Given the description of an element on the screen output the (x, y) to click on. 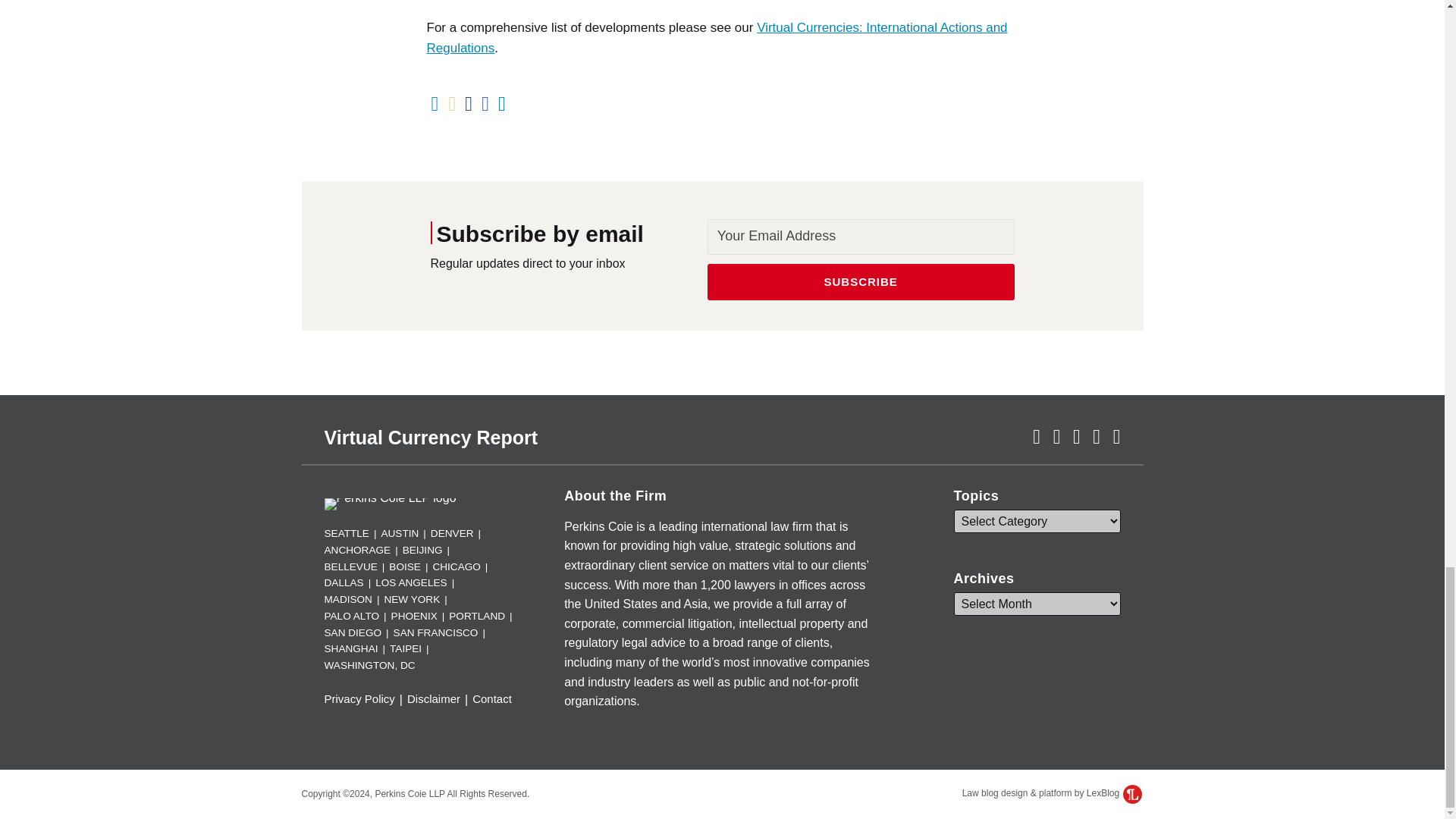
Subscribe (860, 281)
LexBlog Logo (1131, 793)
